Given the description of an element on the screen output the (x, y) to click on. 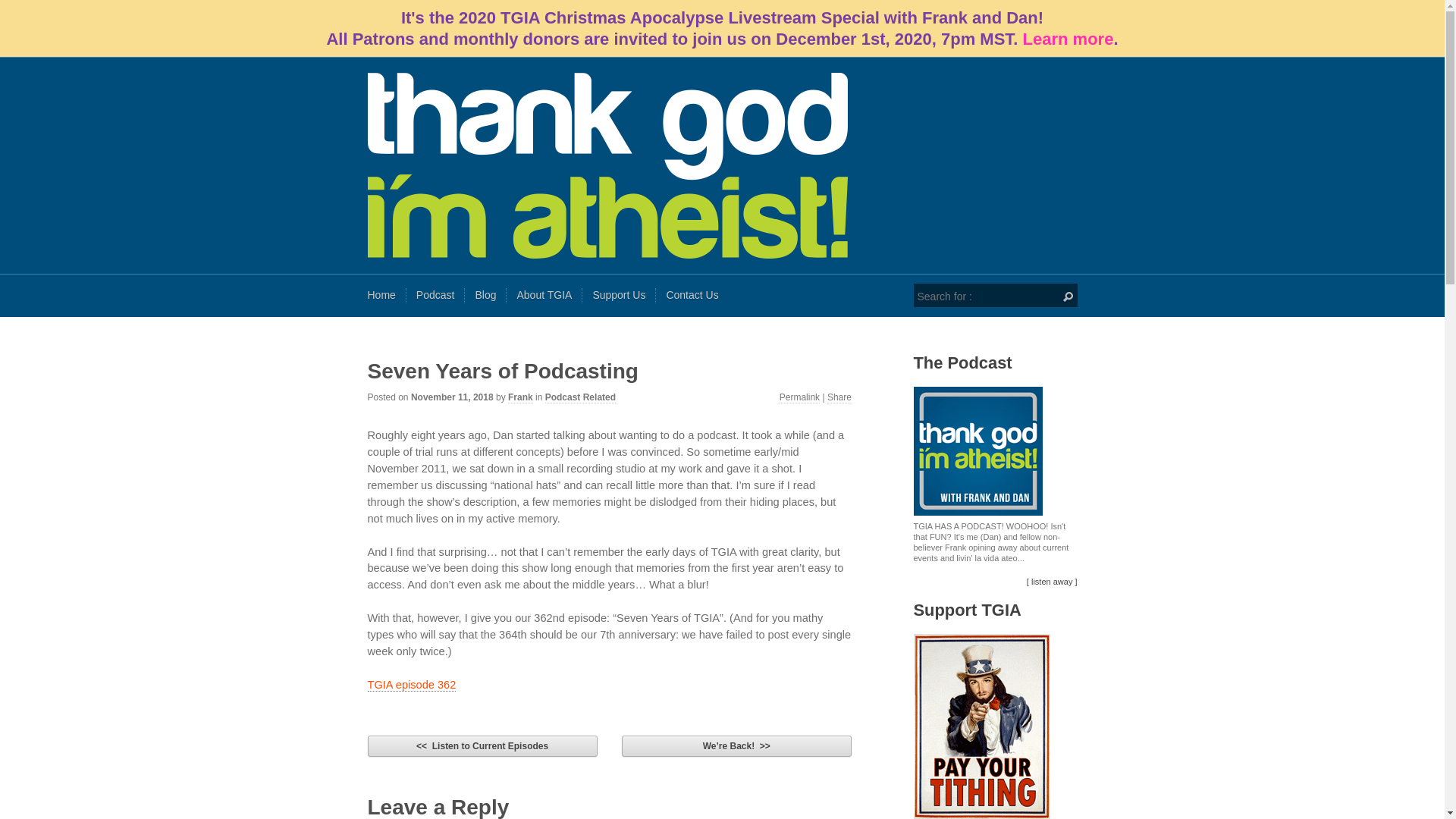
Share (839, 397)
TGIA episode 362 (410, 684)
View all posts by Frank (520, 397)
Thank God I'm Atheist (721, 165)
Podcast Related (579, 397)
Support Us (618, 295)
Home (380, 295)
Permalink (798, 397)
About TGIA (544, 295)
Contact Us (691, 295)
